Given the description of an element on the screen output the (x, y) to click on. 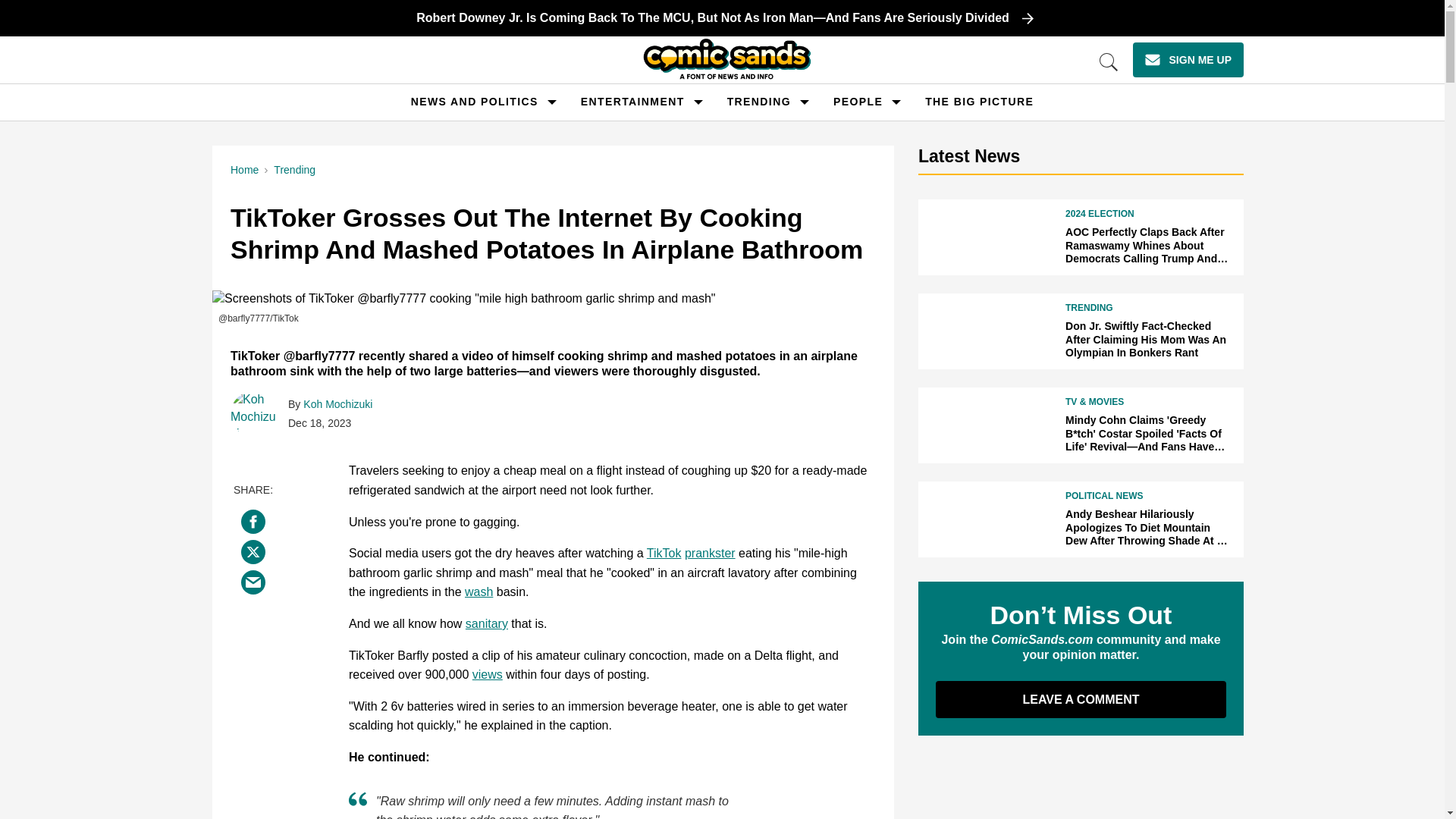
SIGN ME UP (1187, 59)
Open Search (1108, 61)
NEWS AND POLITICS (474, 101)
Open Search (1108, 61)
